Given the description of an element on the screen output the (x, y) to click on. 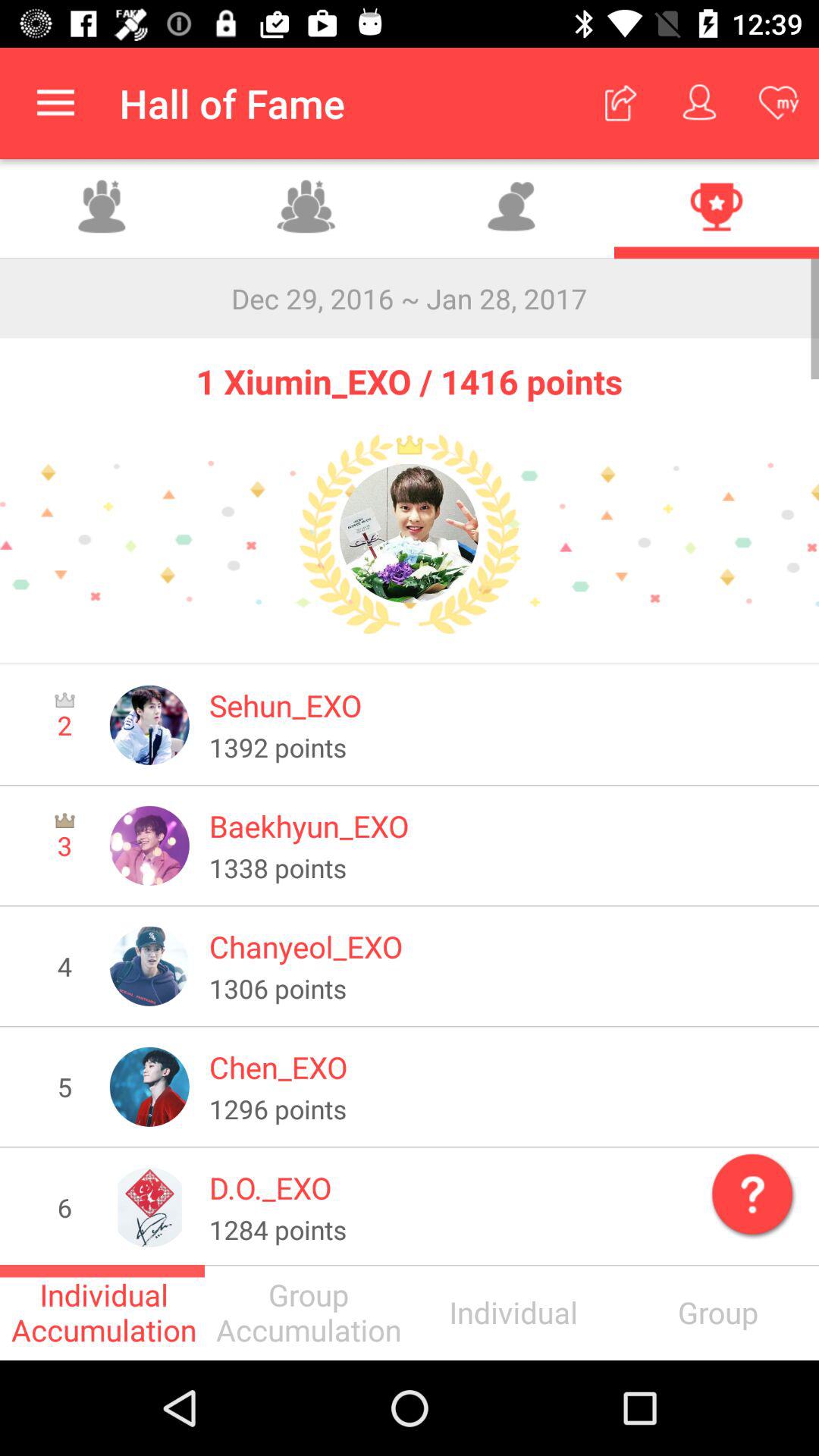
select item below hall of fame app (306, 208)
